Given the description of an element on the screen output the (x, y) to click on. 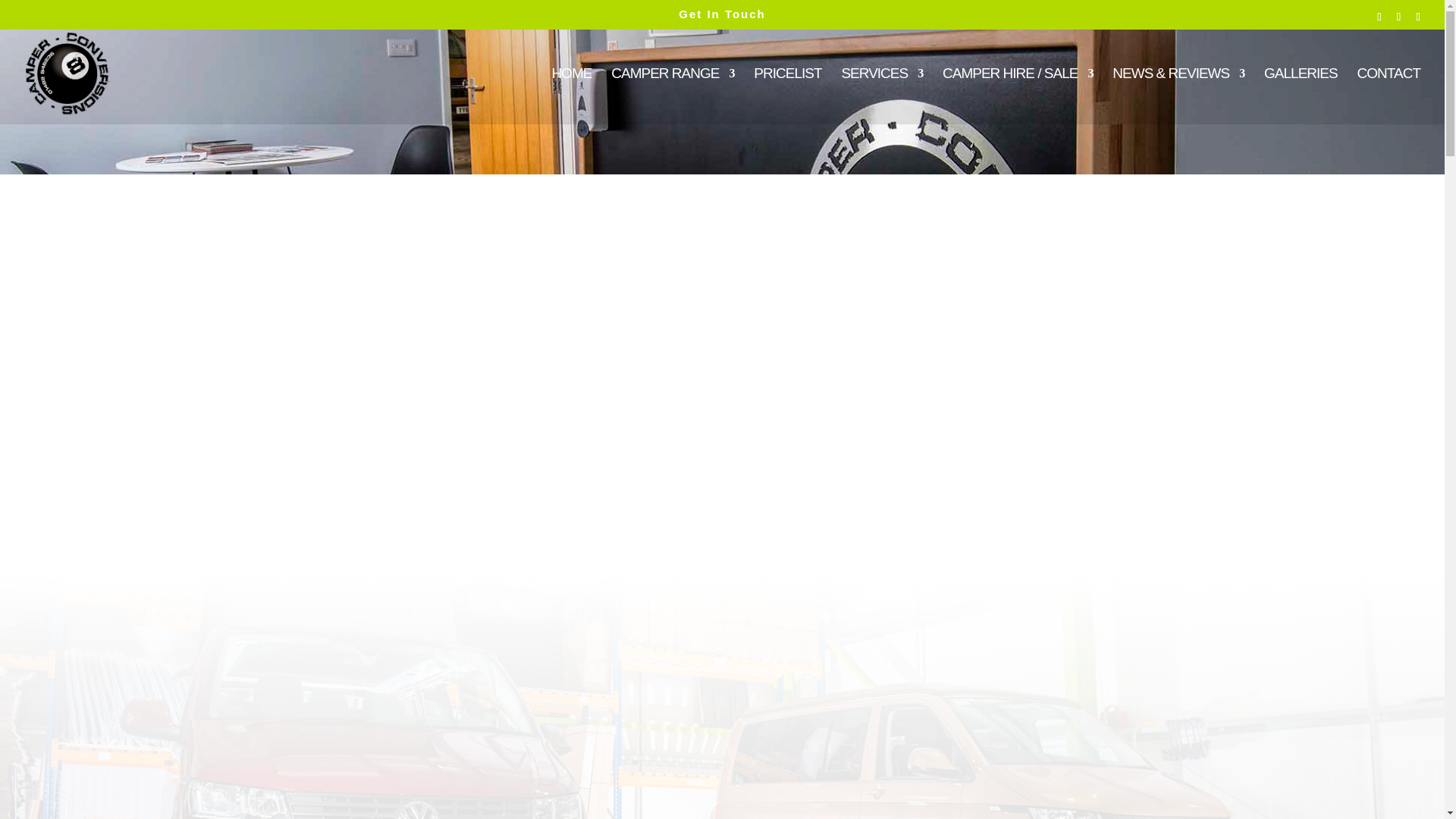
PRICELIST (787, 95)
SERVICES (882, 95)
CONTACT (1388, 95)
GALLERIES (1300, 95)
CAMPER RANGE (672, 95)
Get In Touch (721, 13)
